Given the description of an element on the screen output the (x, y) to click on. 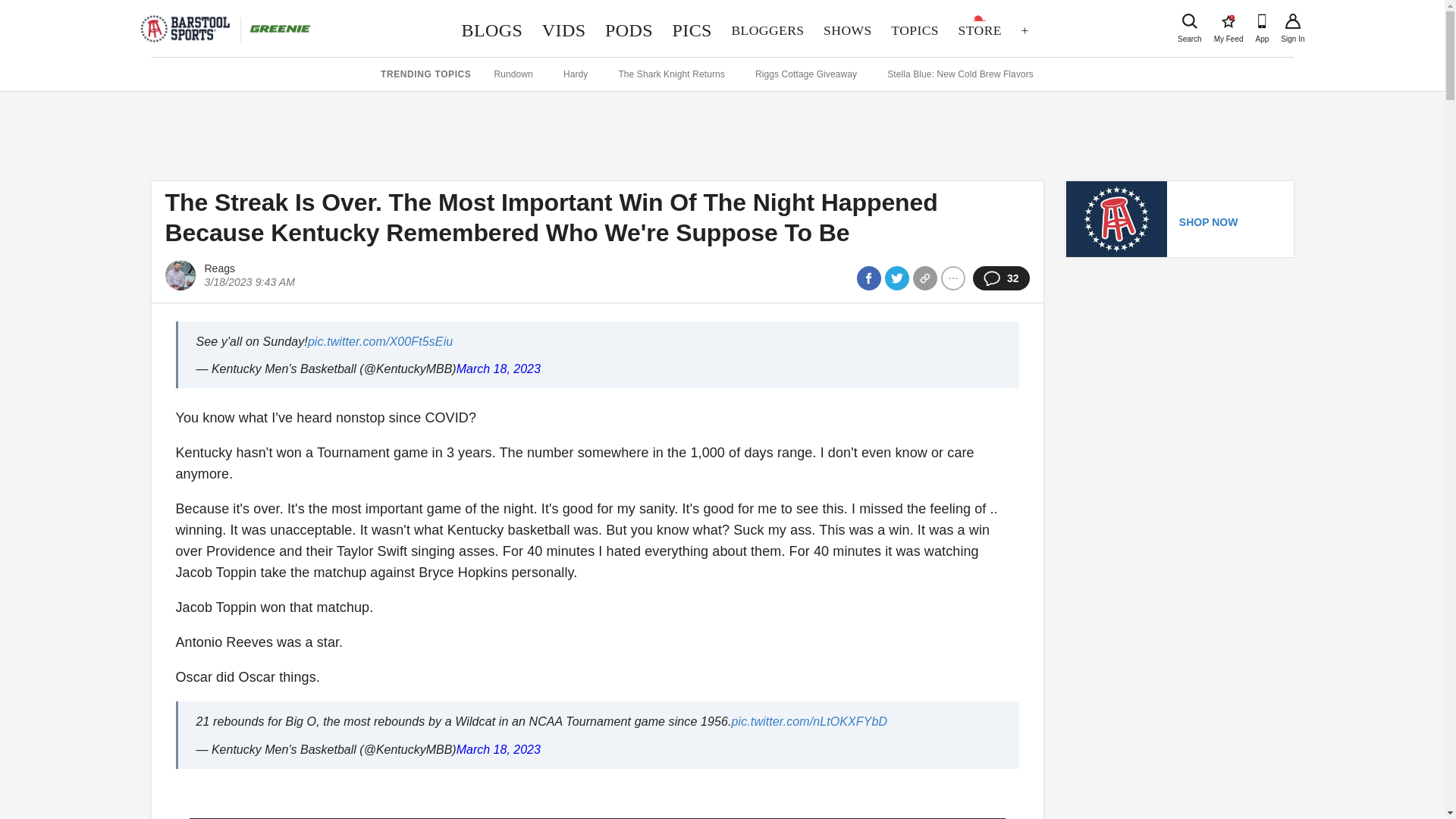
TOPICS (913, 30)
SHOWS (846, 30)
BLOGS (1228, 20)
PICS (491, 30)
Search (692, 30)
VIDS (1189, 20)
PODS (563, 30)
Sign Up (628, 30)
BLOGGERS (1292, 20)
